Given the description of an element on the screen output the (x, y) to click on. 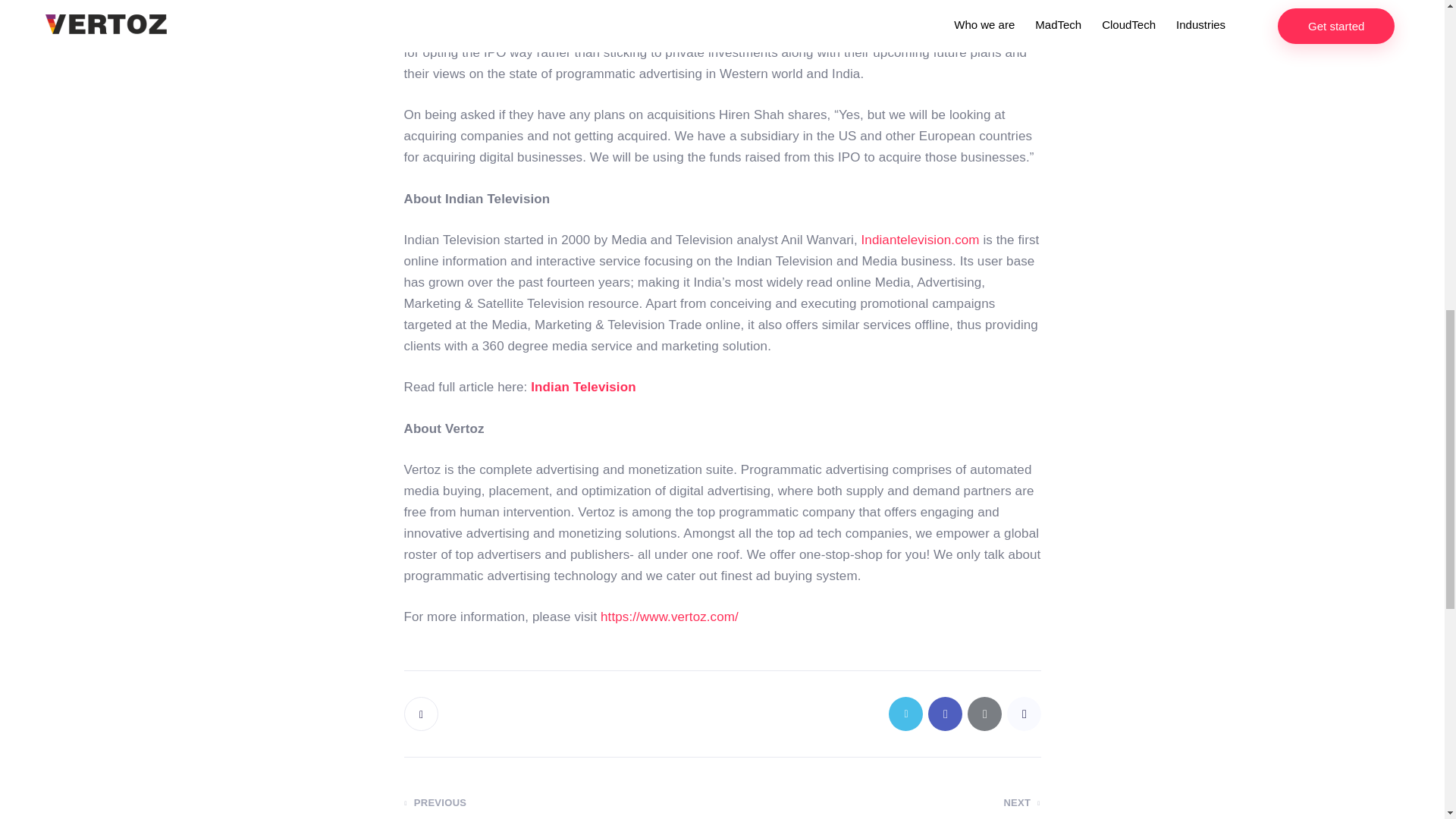
Like (422, 713)
Copy URL to clipboard (1024, 713)
